Given the description of an element on the screen output the (x, y) to click on. 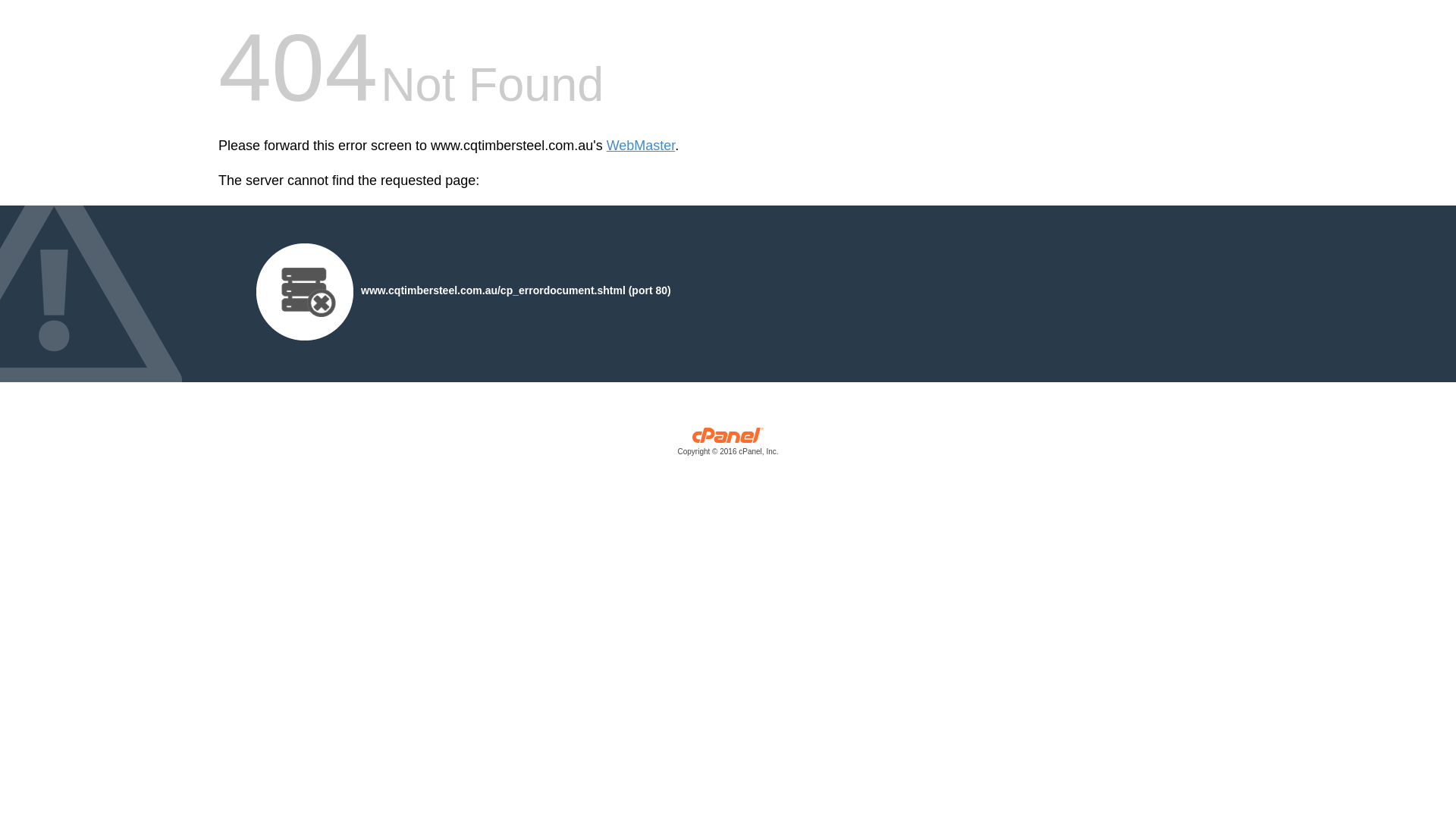
WebMaster Element type: text (640, 145)
